Given the description of an element on the screen output the (x, y) to click on. 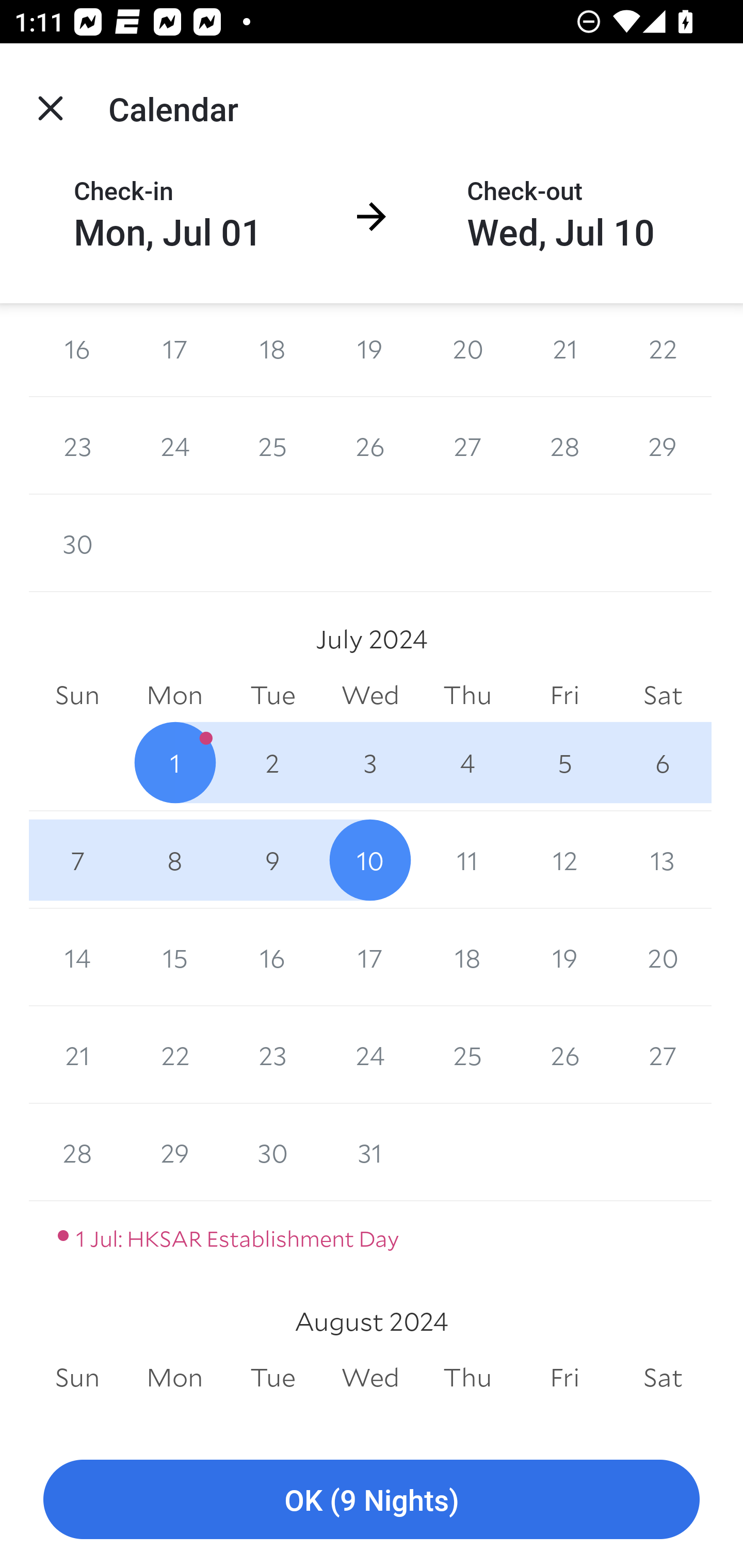
16 16 June 2024 (77, 349)
17 17 June 2024 (174, 349)
18 18 June 2024 (272, 349)
19 19 June 2024 (370, 349)
20 20 June 2024 (467, 349)
21 21 June 2024 (564, 349)
22 22 June 2024 (662, 349)
23 23 June 2024 (77, 444)
24 24 June 2024 (174, 444)
25 25 June 2024 (272, 444)
26 26 June 2024 (370, 444)
27 27 June 2024 (467, 444)
28 28 June 2024 (564, 444)
29 29 June 2024 (662, 444)
30 30 June 2024 (77, 542)
Sun (77, 695)
Mon (174, 695)
Tue (272, 695)
Wed (370, 695)
Thu (467, 695)
Fri (564, 695)
Sat (662, 695)
1 1 July 2024 (174, 761)
2 2 July 2024 (272, 761)
3 3 July 2024 (370, 761)
4 4 July 2024 (467, 761)
5 5 July 2024 (564, 761)
6 6 July 2024 (662, 761)
7 7 July 2024 (77, 859)
8 8 July 2024 (174, 859)
9 9 July 2024 (272, 859)
10 10 July 2024 (370, 859)
11 11 July 2024 (467, 859)
12 12 July 2024 (564, 859)
13 13 July 2024 (662, 859)
14 14 July 2024 (77, 957)
15 15 July 2024 (174, 957)
16 16 July 2024 (272, 957)
17 17 July 2024 (370, 957)
18 18 July 2024 (467, 957)
19 19 July 2024 (564, 957)
20 20 July 2024 (662, 957)
21 21 July 2024 (77, 1054)
22 22 July 2024 (174, 1054)
23 23 July 2024 (272, 1054)
24 24 July 2024 (370, 1054)
25 25 July 2024 (467, 1054)
26 26 July 2024 (564, 1054)
27 27 July 2024 (662, 1054)
28 28 July 2024 (77, 1152)
29 29 July 2024 (174, 1152)
30 30 July 2024 (272, 1152)
31 31 July 2024 (370, 1152)
Sun (77, 1377)
Mon (174, 1377)
Tue (272, 1377)
Wed (370, 1377)
Thu (467, 1377)
Fri (564, 1377)
Sat (662, 1377)
OK (9 Nights) (371, 1499)
